Given the description of an element on the screen output the (x, y) to click on. 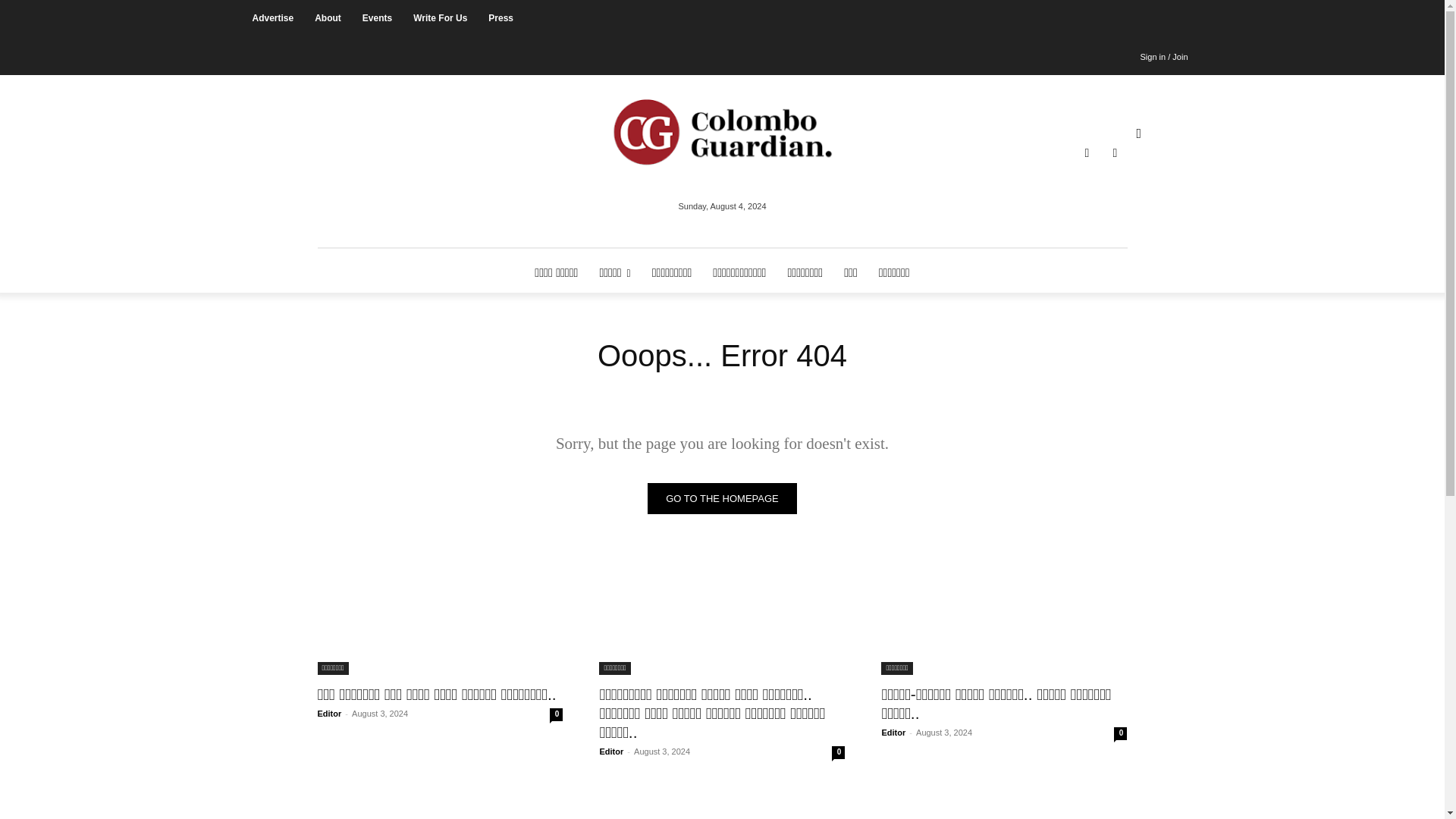
Press (500, 18)
Go to the homepage (721, 498)
Facebook (1087, 152)
Write For Us (440, 18)
About (328, 18)
Twitter (1114, 152)
Advertise (272, 18)
Events (377, 18)
